Given the description of an element on the screen output the (x, y) to click on. 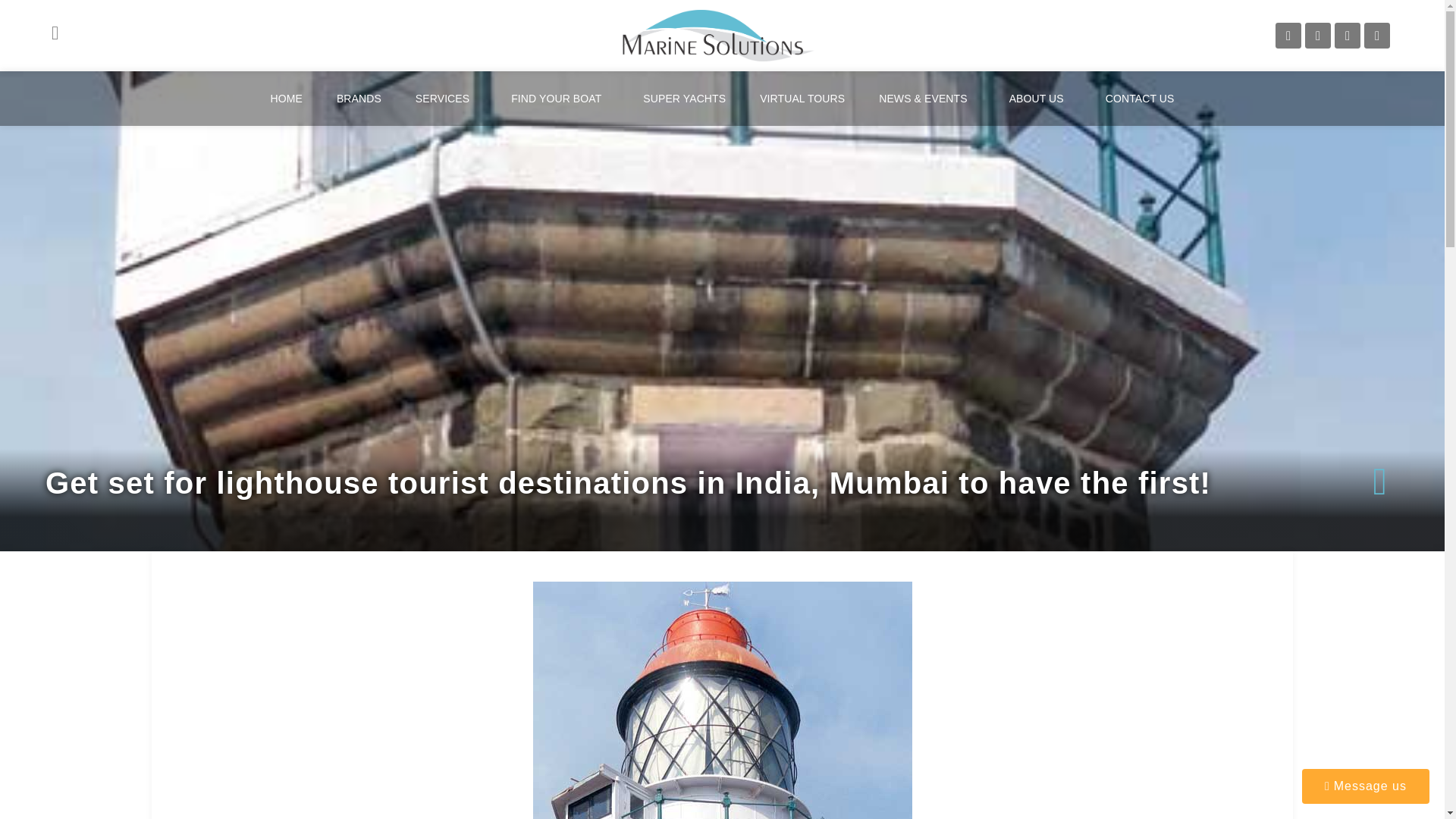
HOME (285, 98)
FIND YOUR BOAT (560, 98)
BRANDS (358, 98)
SERVICES (446, 98)
Original Big Size (718, 35)
Boats for Sale in India (560, 98)
Yacht Services (446, 98)
ABOUT US (1040, 98)
Yacht Dealers In India (358, 98)
VIRTUAL TOURS (802, 98)
SUPER YACHTS (684, 98)
